Given the description of an element on the screen output the (x, y) to click on. 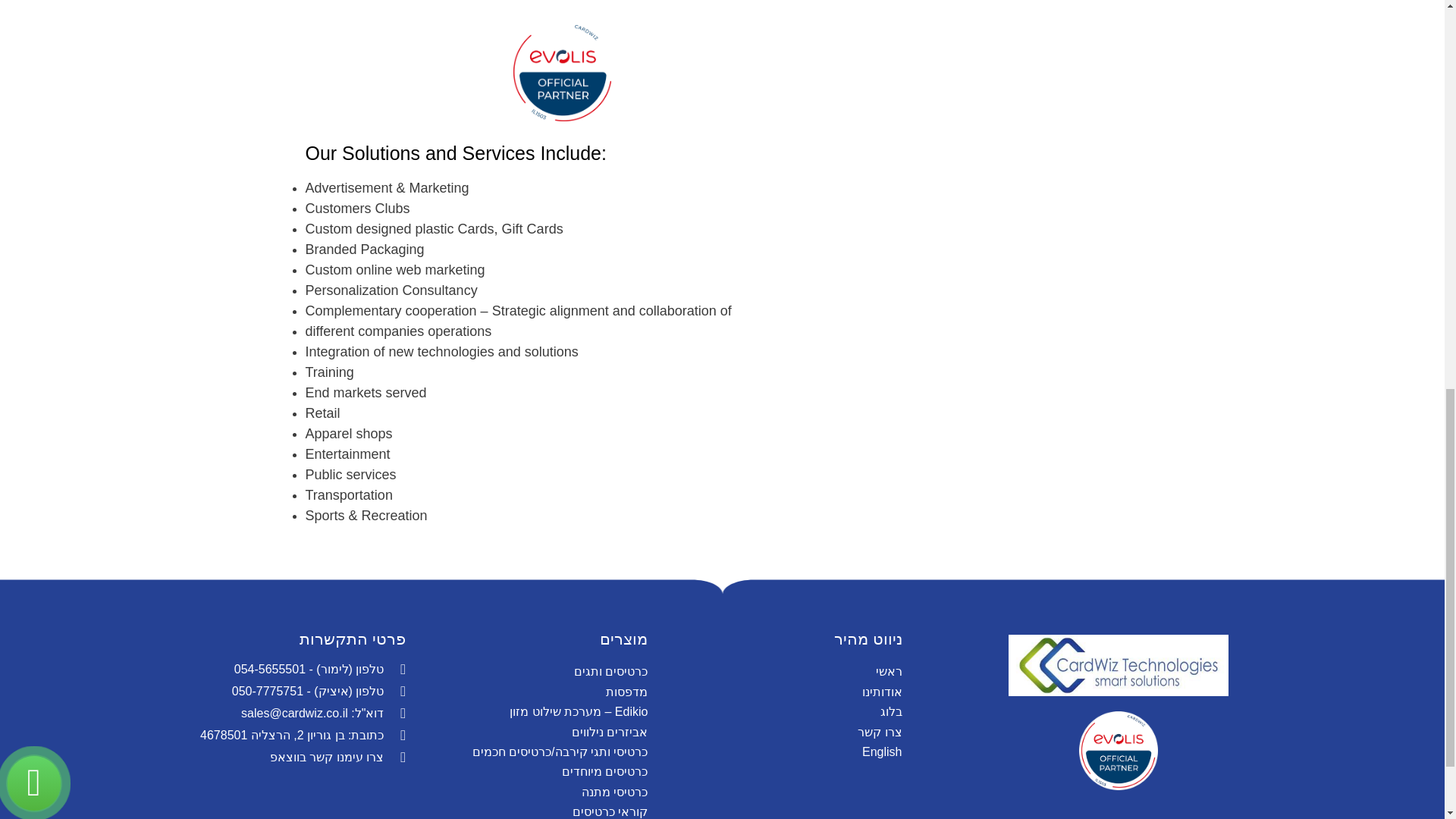
English (785, 752)
